Given the description of an element on the screen output the (x, y) to click on. 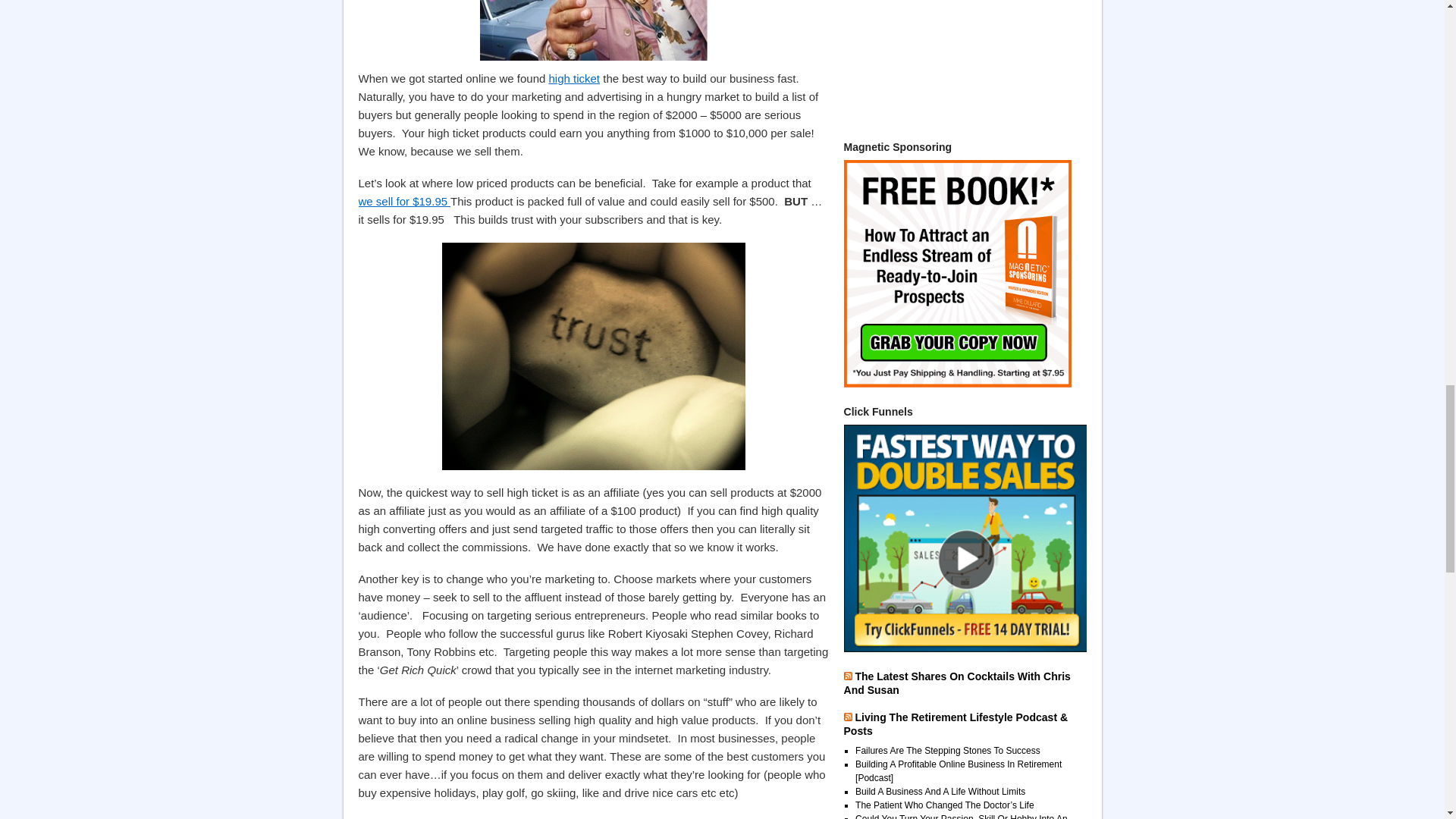
high ticket (573, 78)
Trust-Workplace-1 (592, 356)
LaptopLifestyle Sales Page (403, 201)
Chris and Susan Beeslely High Ticket (573, 78)
used-car-salesman (592, 30)
